Given the description of an element on the screen output the (x, y) to click on. 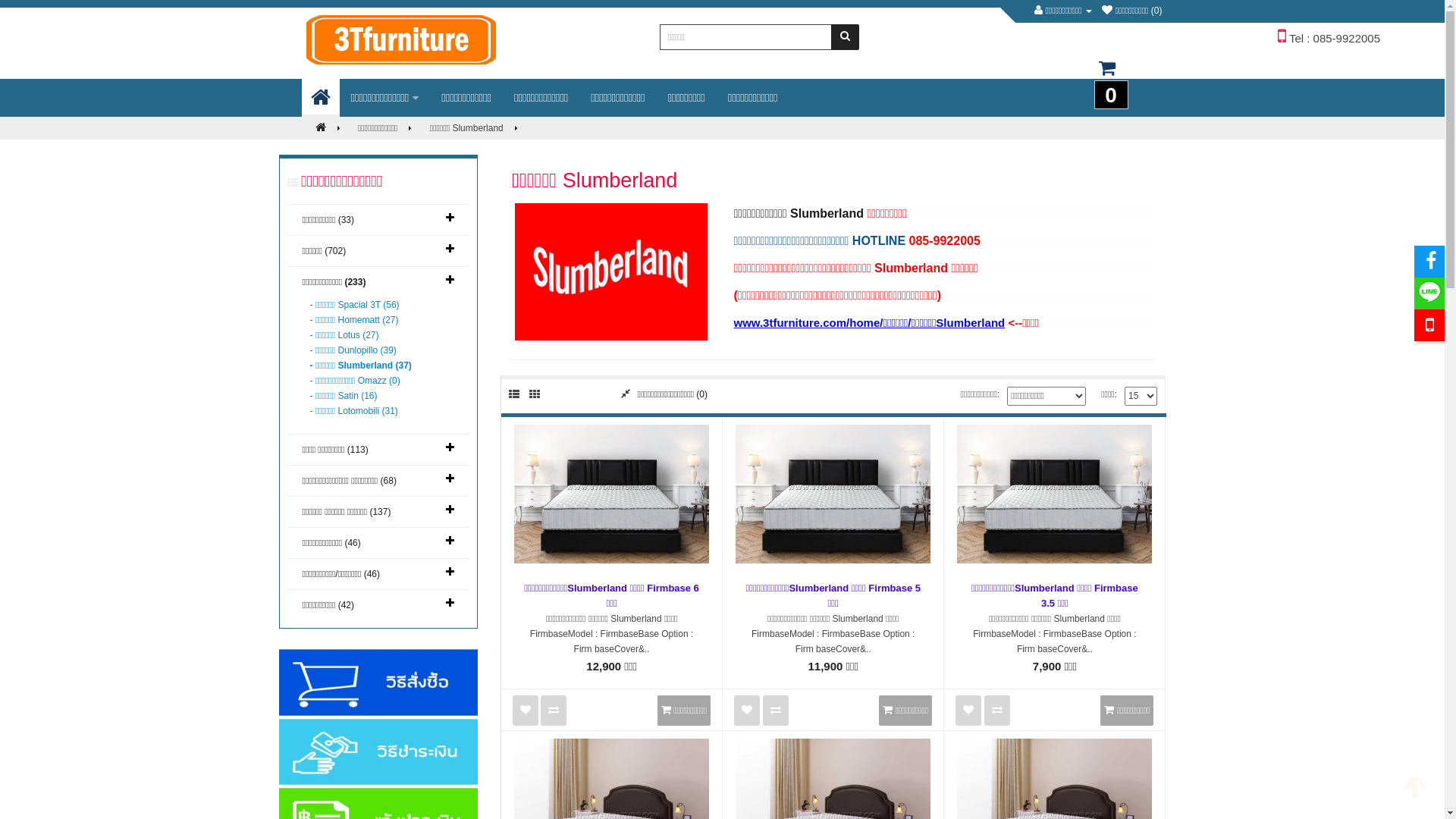
0 Element type: text (1106, 75)
